Given the description of an element on the screen output the (x, y) to click on. 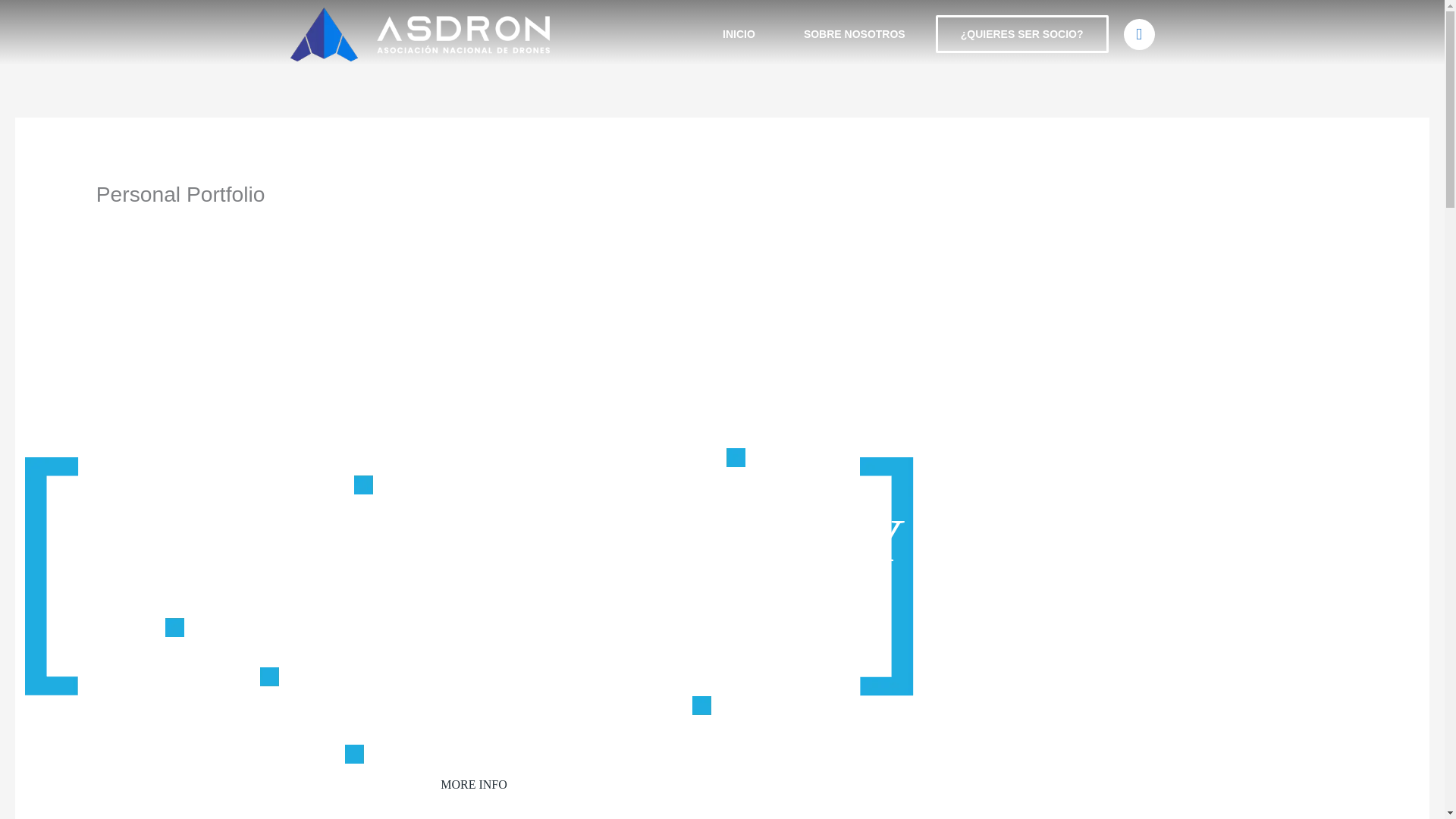
SOBRE NOSOTROS (854, 33)
INICIO (738, 33)
MORE INFO (473, 784)
